Given the description of an element on the screen output the (x, y) to click on. 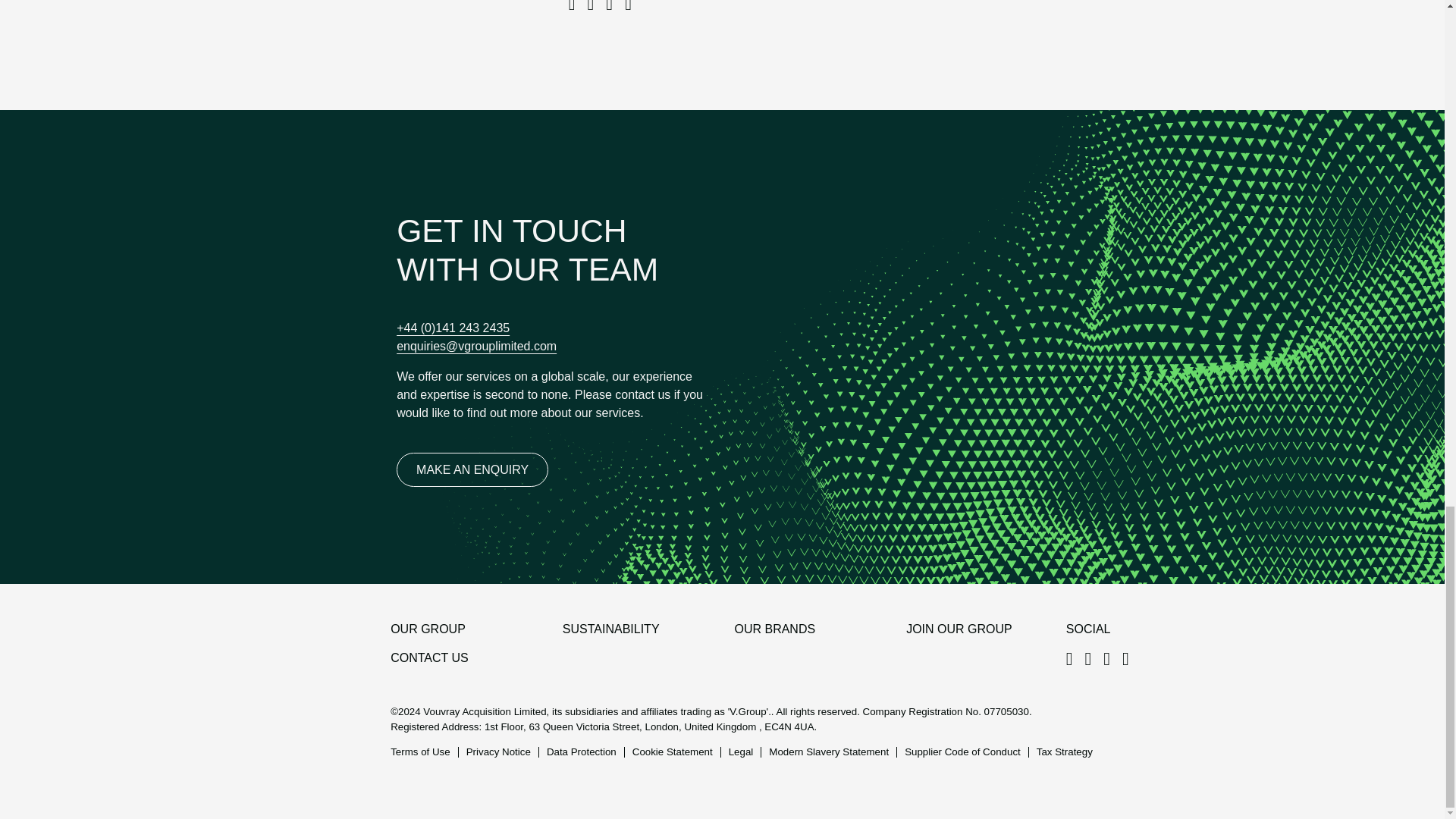
Home (250, 639)
Instagram (1093, 659)
Twitter (1131, 659)
LinkedIn (1074, 659)
Facebook (1112, 659)
